Given the description of an element on the screen output the (x, y) to click on. 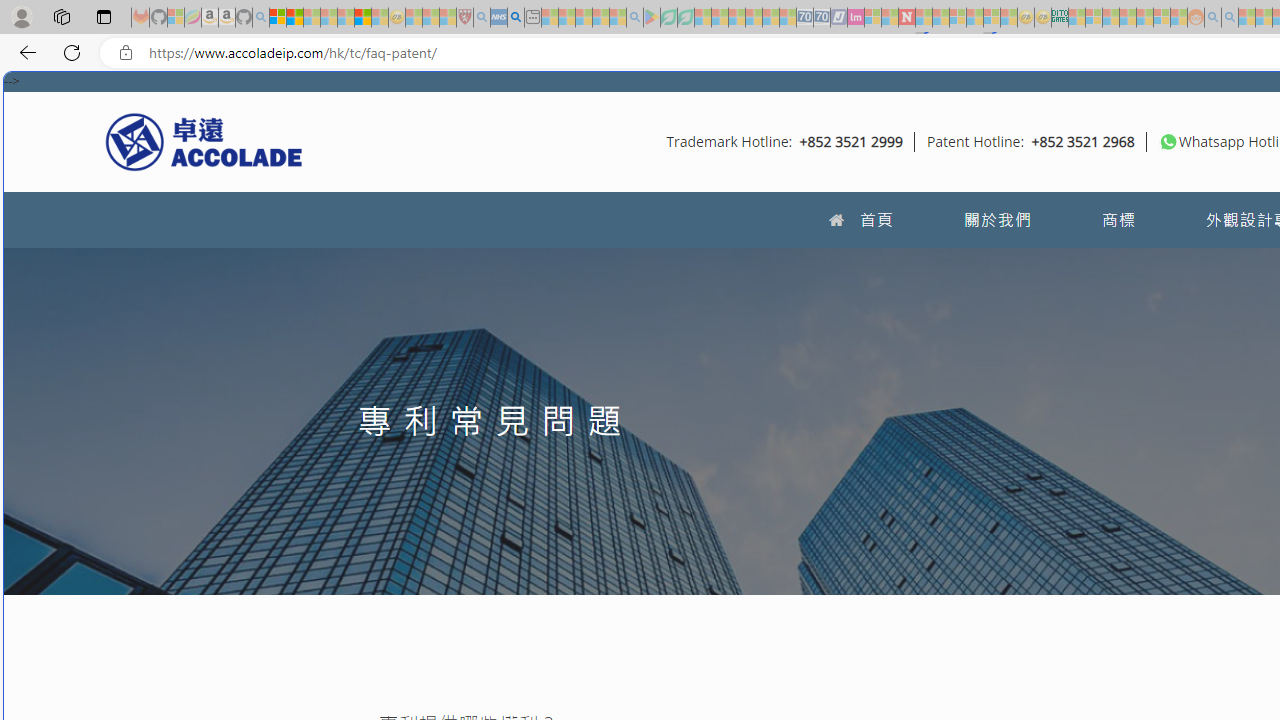
New tab - Sleeping (532, 17)
Kinda Frugal - MSN - Sleeping (1144, 17)
Terms of Use Agreement - Sleeping (668, 17)
New Report Confirms 2023 Was Record Hot | Watch - Sleeping (345, 17)
MSNBC - MSN - Sleeping (1076, 17)
